Given the description of an element on the screen output the (x, y) to click on. 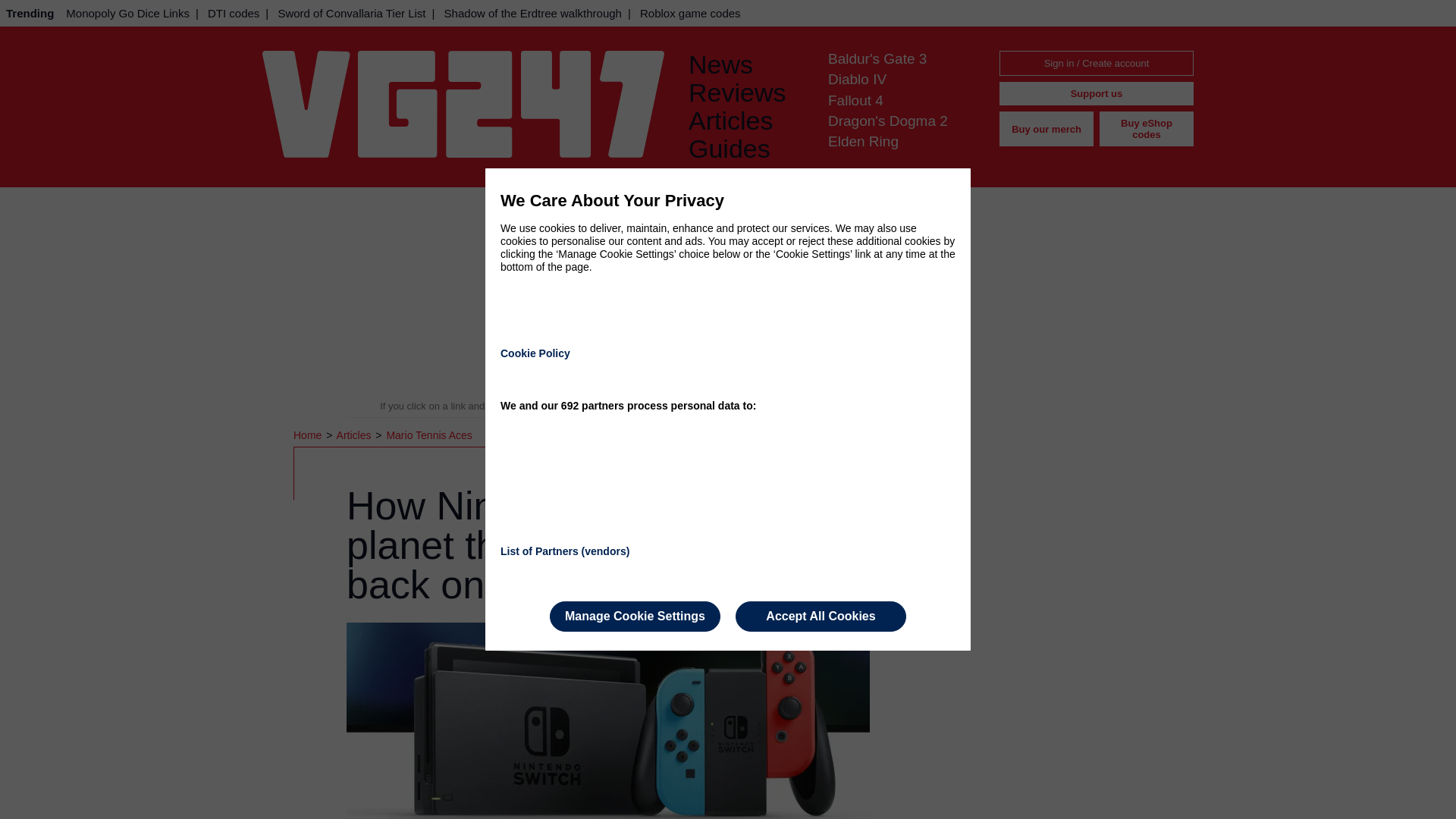
News (745, 64)
Sword of Convallaria Tier List (350, 13)
DTI codes (233, 13)
Guides (745, 148)
Home (309, 435)
Reviews (745, 92)
Elden Ring (863, 141)
Fallout 4 (855, 100)
DTI codes (233, 13)
Shadow of the Erdtree walkthrough (532, 13)
